Given the description of an element on the screen output the (x, y) to click on. 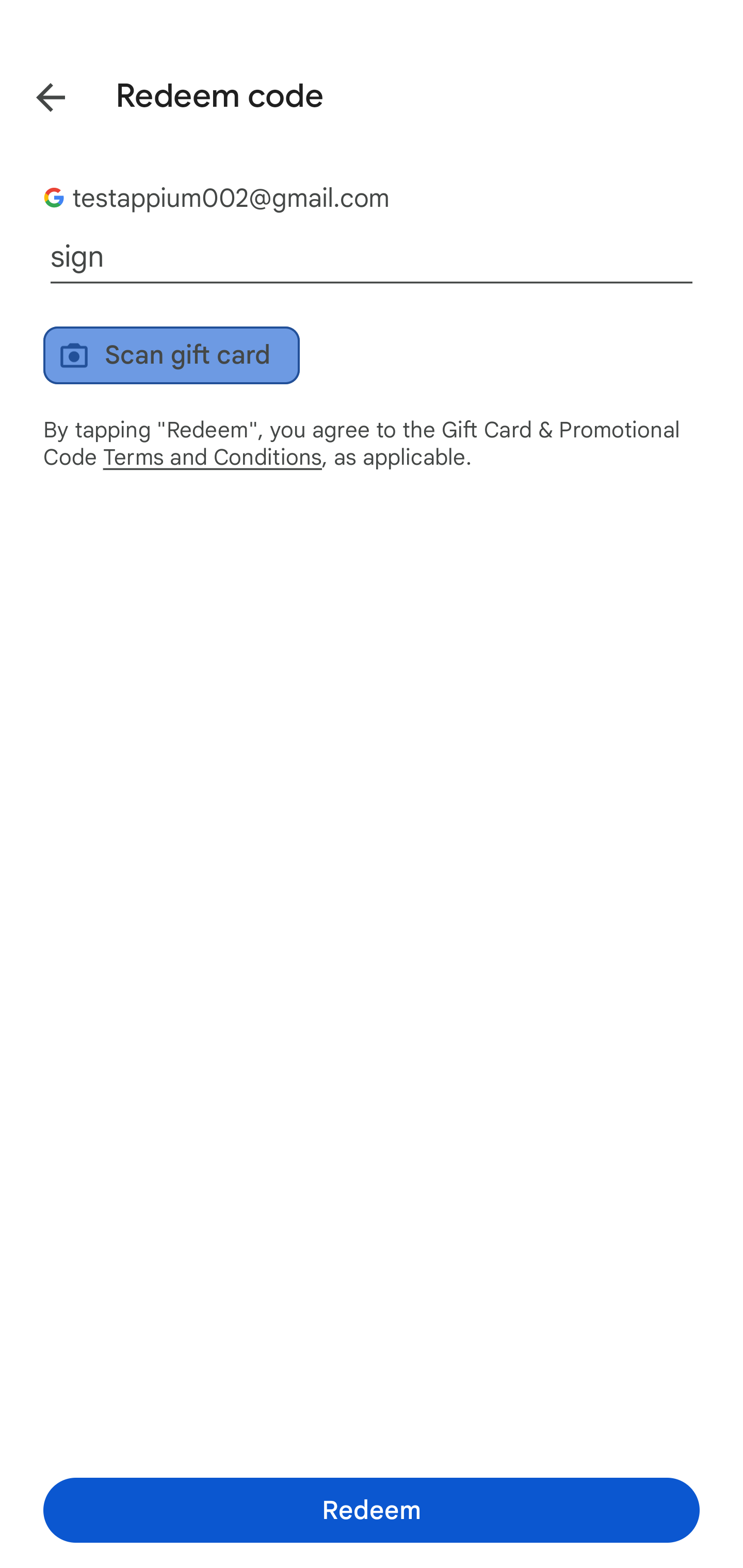
Back (36, 94)
sign (371, 256)
Scan gift card (171, 355)
Redeem (371, 1509)
